Given the description of an element on the screen output the (x, y) to click on. 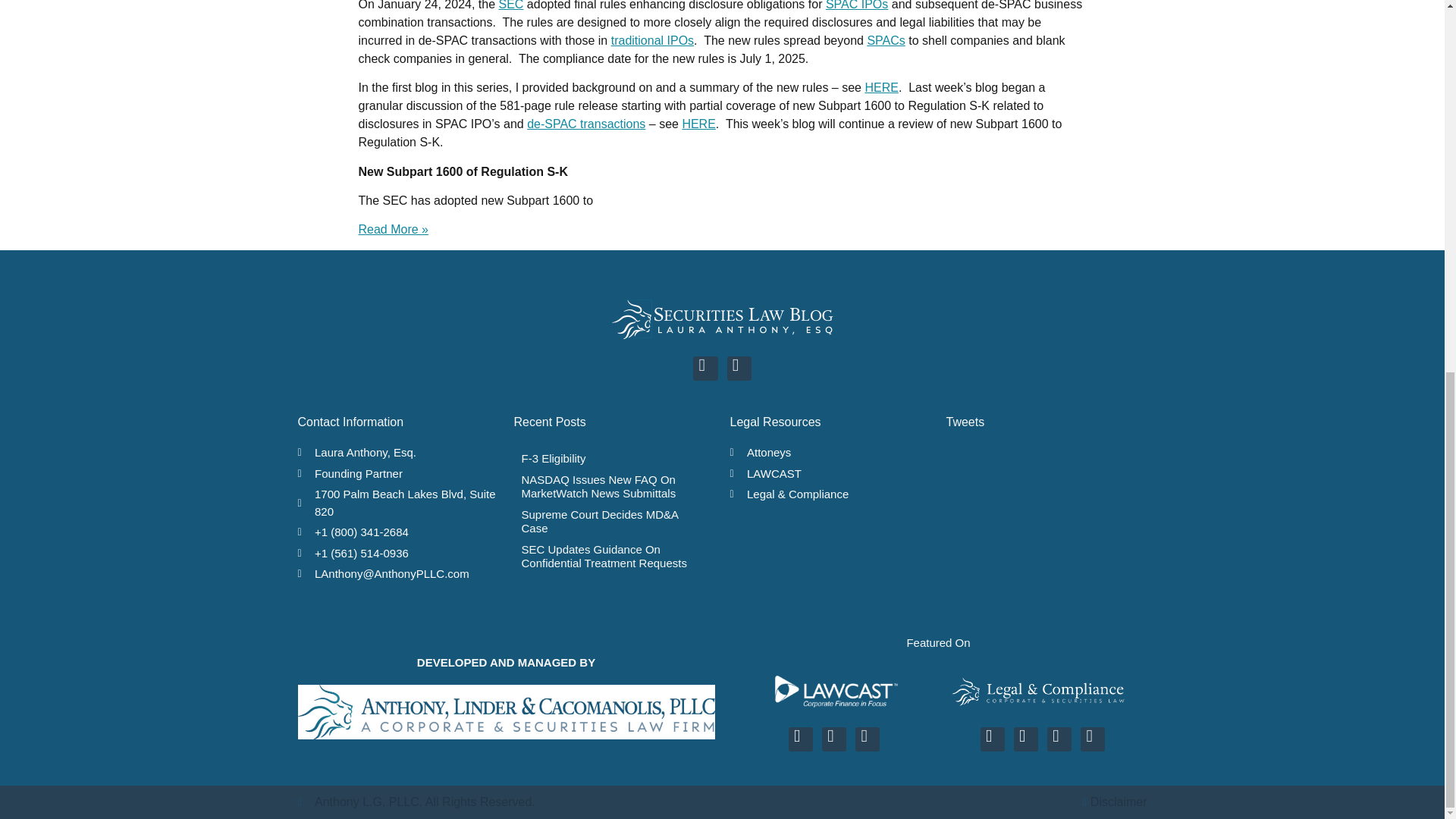
de-SPAC transactions (586, 123)
SEC (511, 5)
traditional IPOs (652, 40)
1700 Palm Beach Lakes Blvd, Suite 820 (397, 503)
HERE (881, 87)
HERE (697, 123)
SPAC IPOs (856, 5)
SPACs (885, 40)
